Given the description of an element on the screen output the (x, y) to click on. 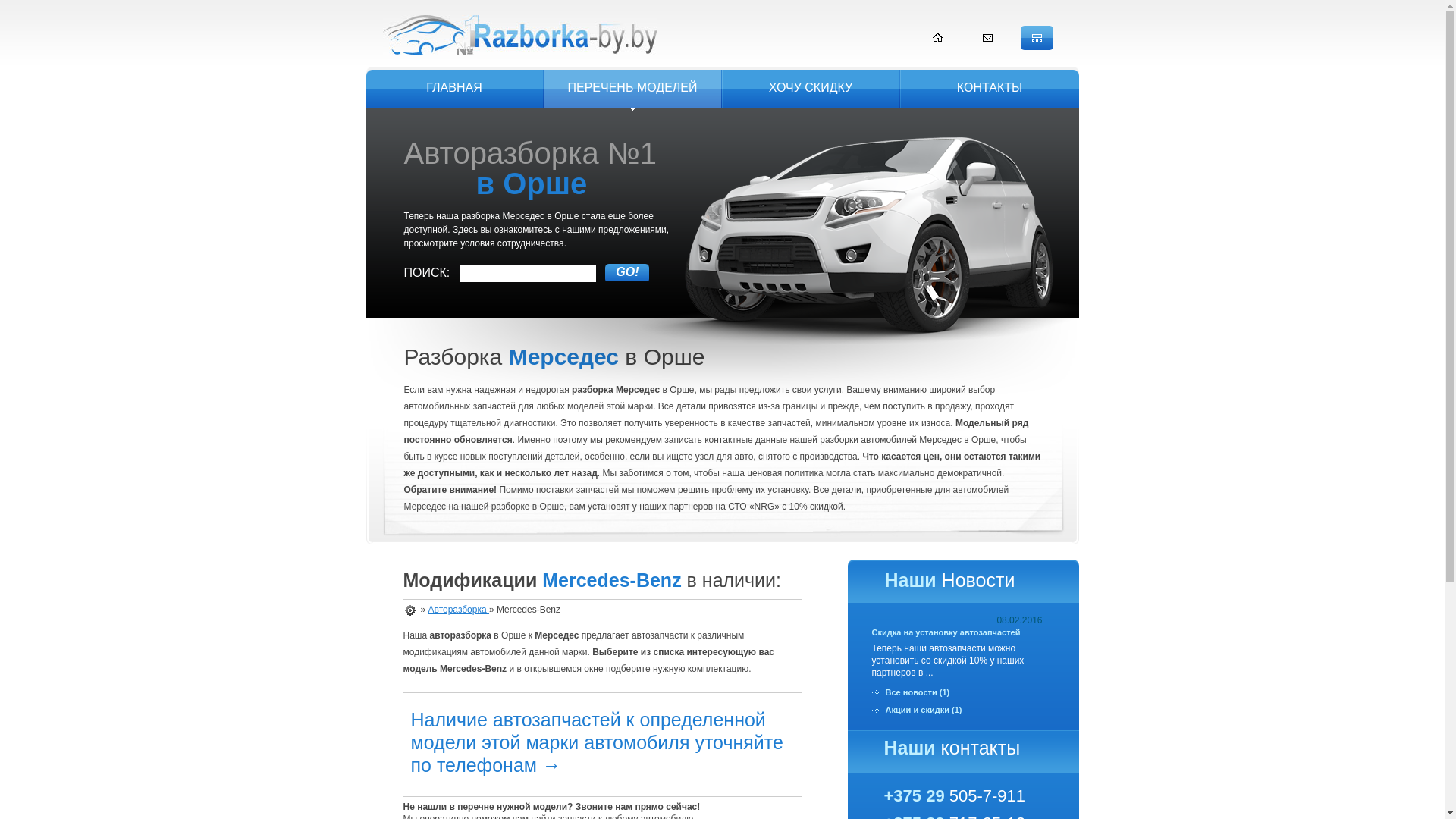
GO! Element type: text (627, 272)
